Given the description of an element on the screen output the (x, y) to click on. 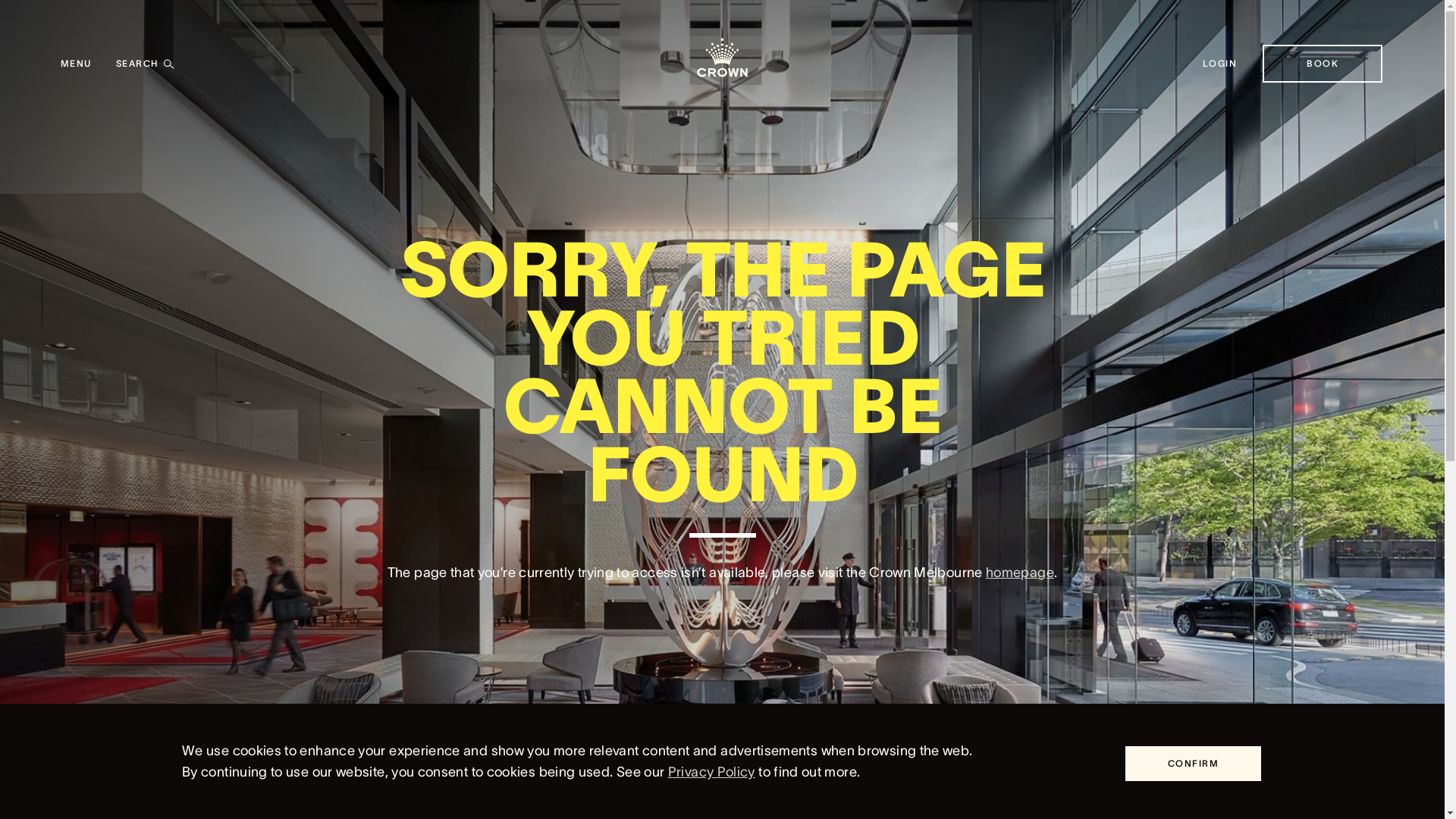
SEARCH Element type: text (145, 63)
BOOK Element type: text (1322, 63)
Privacy Policy Element type: text (711, 771)
MENU Element type: text (75, 63)
LOGIN Element type: text (1219, 63)
homepage Element type: text (1019, 572)
CONFIRM Element type: text (1193, 763)
